Given the description of an element on the screen output the (x, y) to click on. 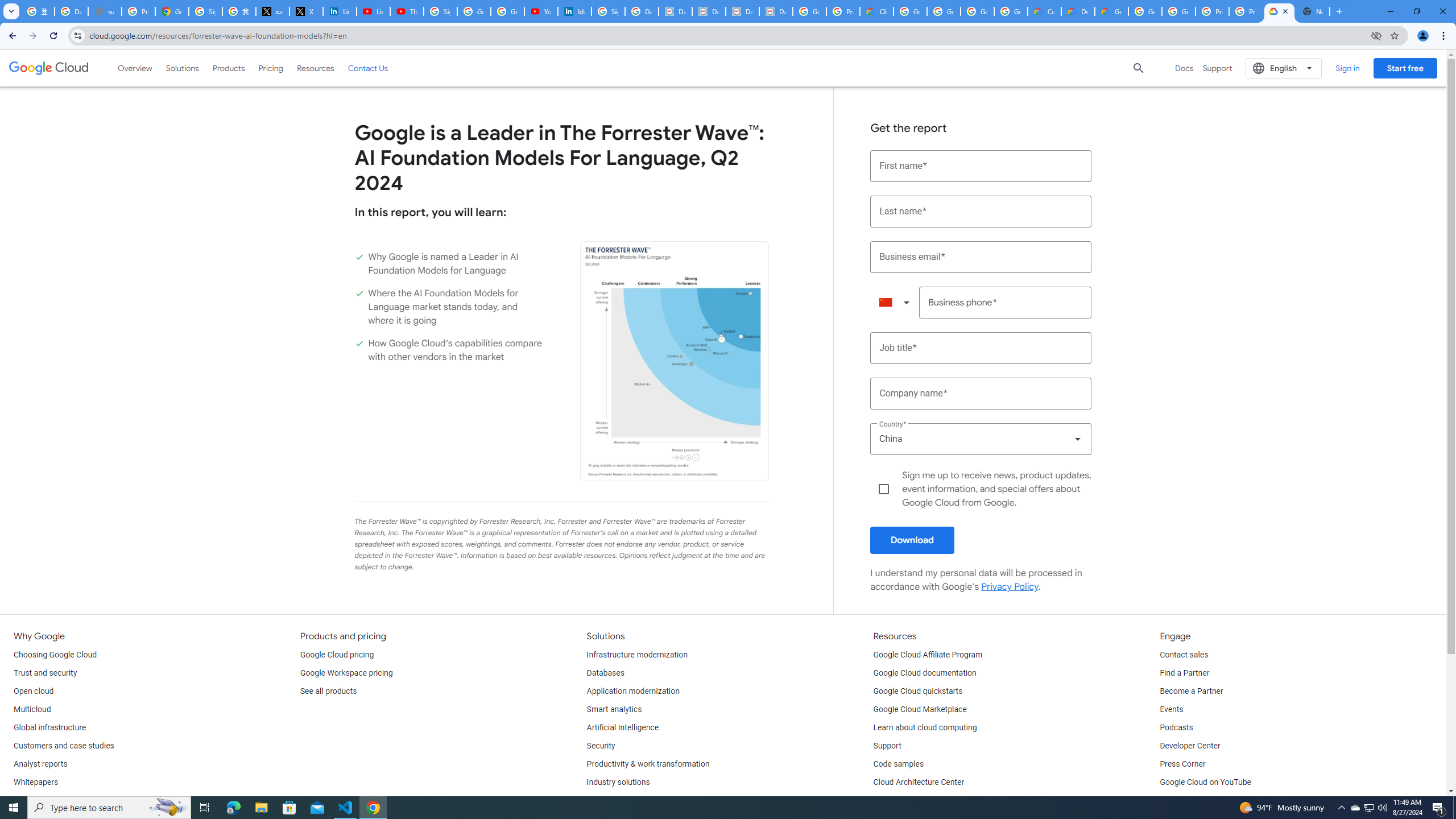
Application modernization (632, 691)
Sign in - Google Accounts (608, 11)
Download (912, 539)
Data Privacy Framework (742, 11)
Support (887, 746)
Data Privacy Framework (775, 11)
X (305, 11)
support.google.com - Network error (104, 11)
Contact Us (368, 67)
Google Cloud Platform (1144, 11)
